Given the description of an element on the screen output the (x, y) to click on. 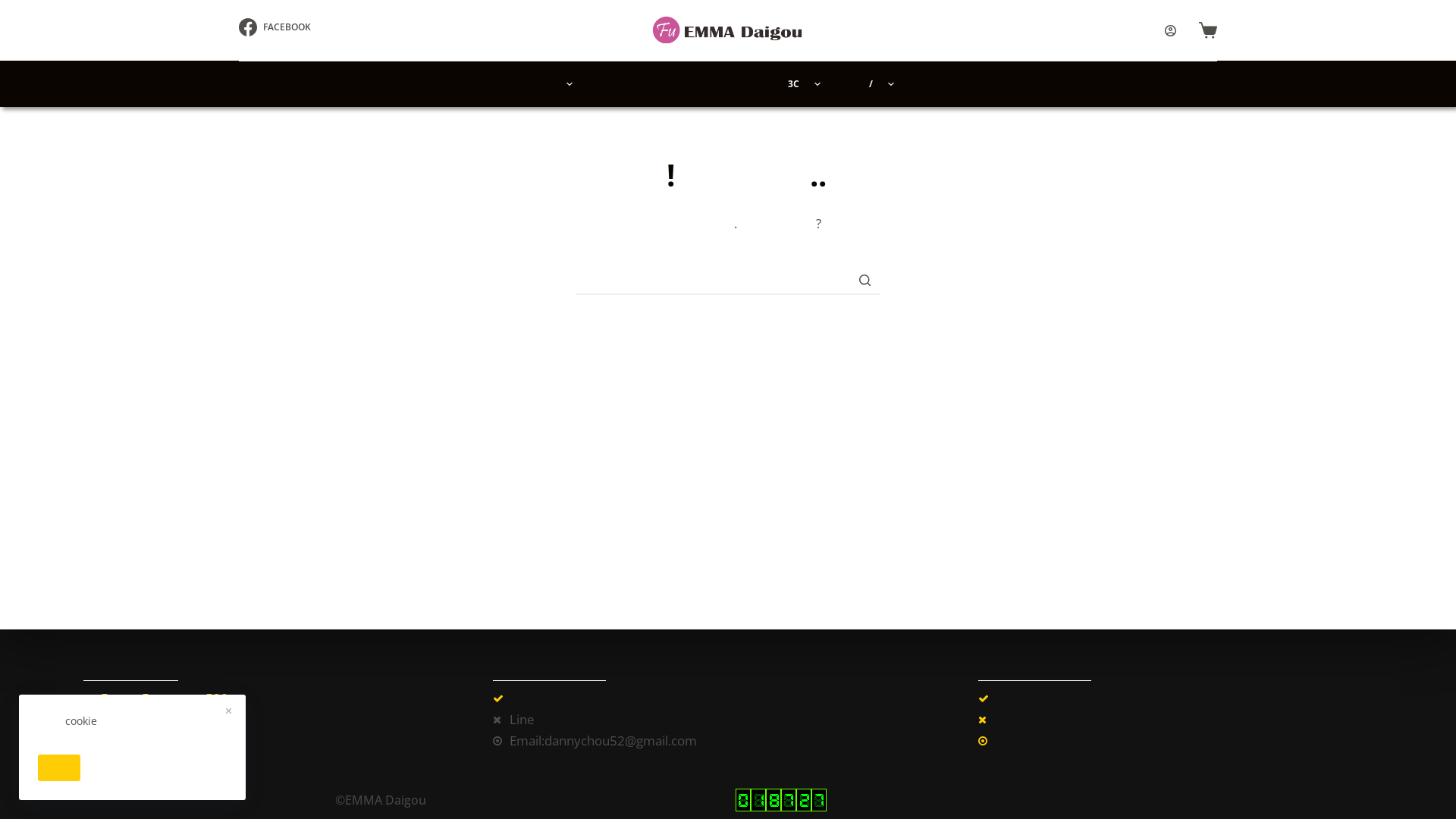
FACEBOOK Element type: text (274, 27)
Click to see detail of visits and stats for this site Element type: hover (780, 799)
